Given the description of an element on the screen output the (x, y) to click on. 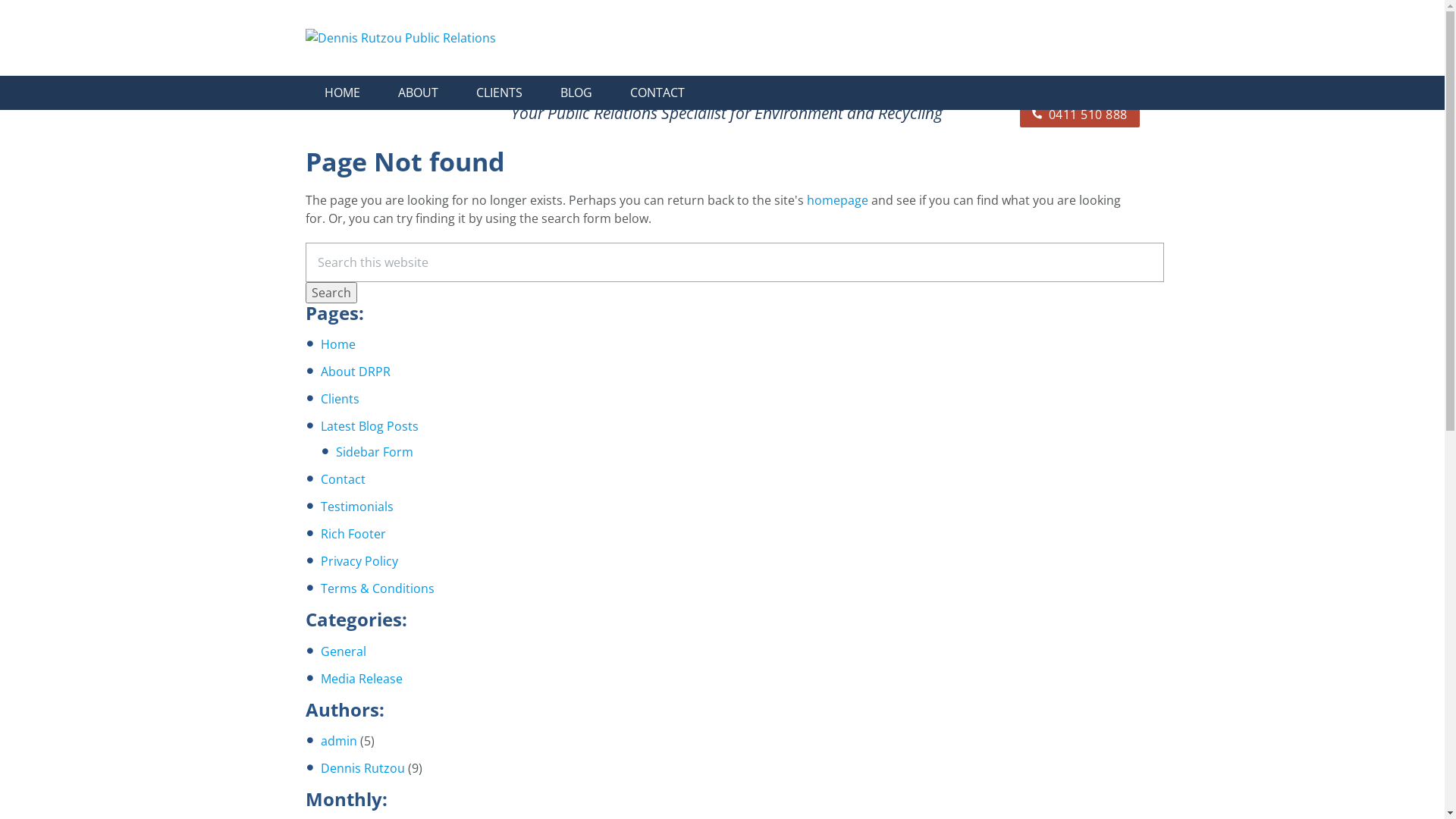
Clients Element type: text (339, 398)
admin Element type: text (338, 740)
CONTACT Element type: text (657, 92)
Sidebar Form Element type: text (373, 451)
Terms & Conditions Element type: text (376, 588)
CLIENTS Element type: text (498, 92)
homepage Element type: text (837, 199)
Media Release Element type: text (360, 678)
Search Element type: text (330, 292)
Contact Element type: text (342, 478)
ABOUT Element type: text (418, 92)
Privacy Policy Element type: text (358, 560)
Rich Footer Element type: text (352, 533)
 0411 510 888 Element type: text (1079, 113)
About DRPR Element type: text (354, 371)
Latest Blog Posts Element type: text (368, 425)
HOME Element type: text (341, 92)
Testimonials Element type: text (356, 506)
General Element type: text (342, 651)
0411 510 888 Element type: text (1079, 65)
Dennis Rutzou Element type: text (362, 767)
Home Element type: text (337, 343)
BLOG Element type: text (576, 92)
